Given the description of an element on the screen output the (x, y) to click on. 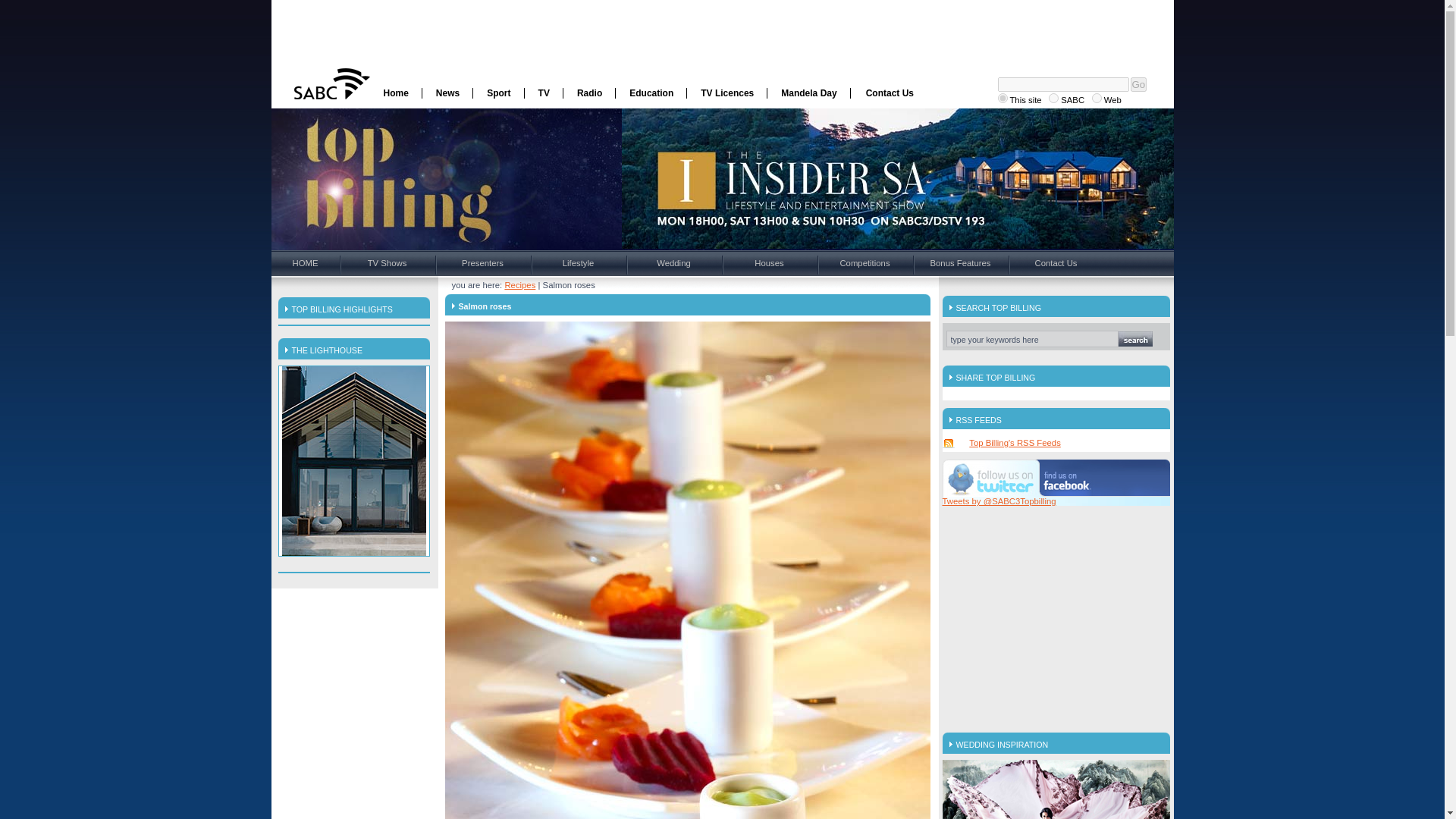
News (447, 92)
type your keywords here (1032, 338)
Sport (498, 92)
HOME (304, 263)
Top Billing Thursday 8:30pm Sunday 1:00pm (403, 179)
Contact Us (889, 92)
Watch The Insider SA (897, 178)
Mandela Day (808, 92)
Education (651, 92)
type your keywords here (1032, 338)
TV (543, 92)
Radio (589, 92)
Home (395, 92)
Education (651, 92)
SABCCORP (1002, 98)
